Given the description of an element on the screen output the (x, y) to click on. 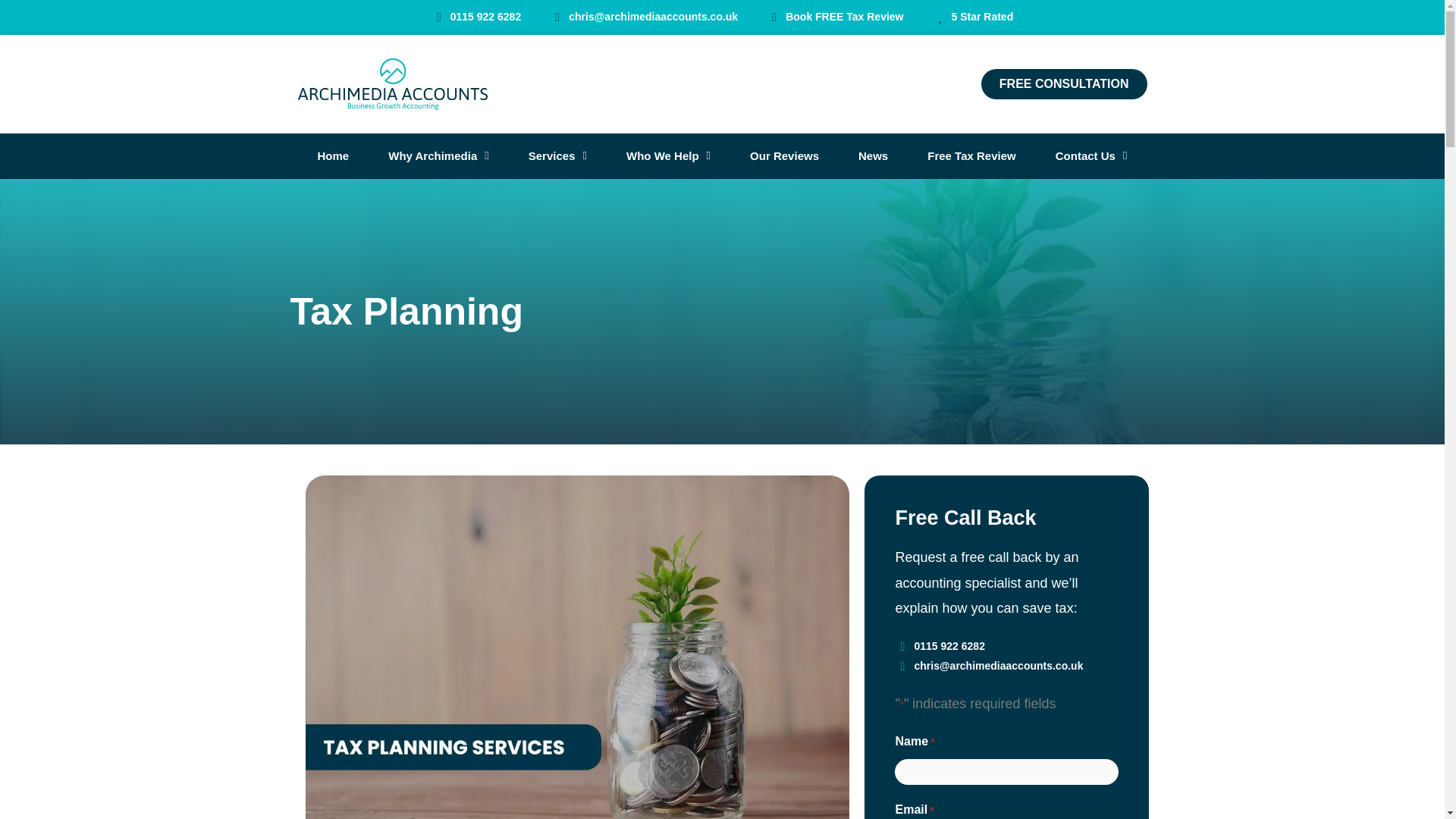
Who We Help (668, 155)
FREE CONSULTATION (1064, 83)
5 Star Rated (973, 17)
Why Archimedia (438, 155)
Book FREE Tax Review (834, 17)
Home (332, 155)
Services (557, 155)
0115 922 6282 (475, 17)
